Given the description of an element on the screen output the (x, y) to click on. 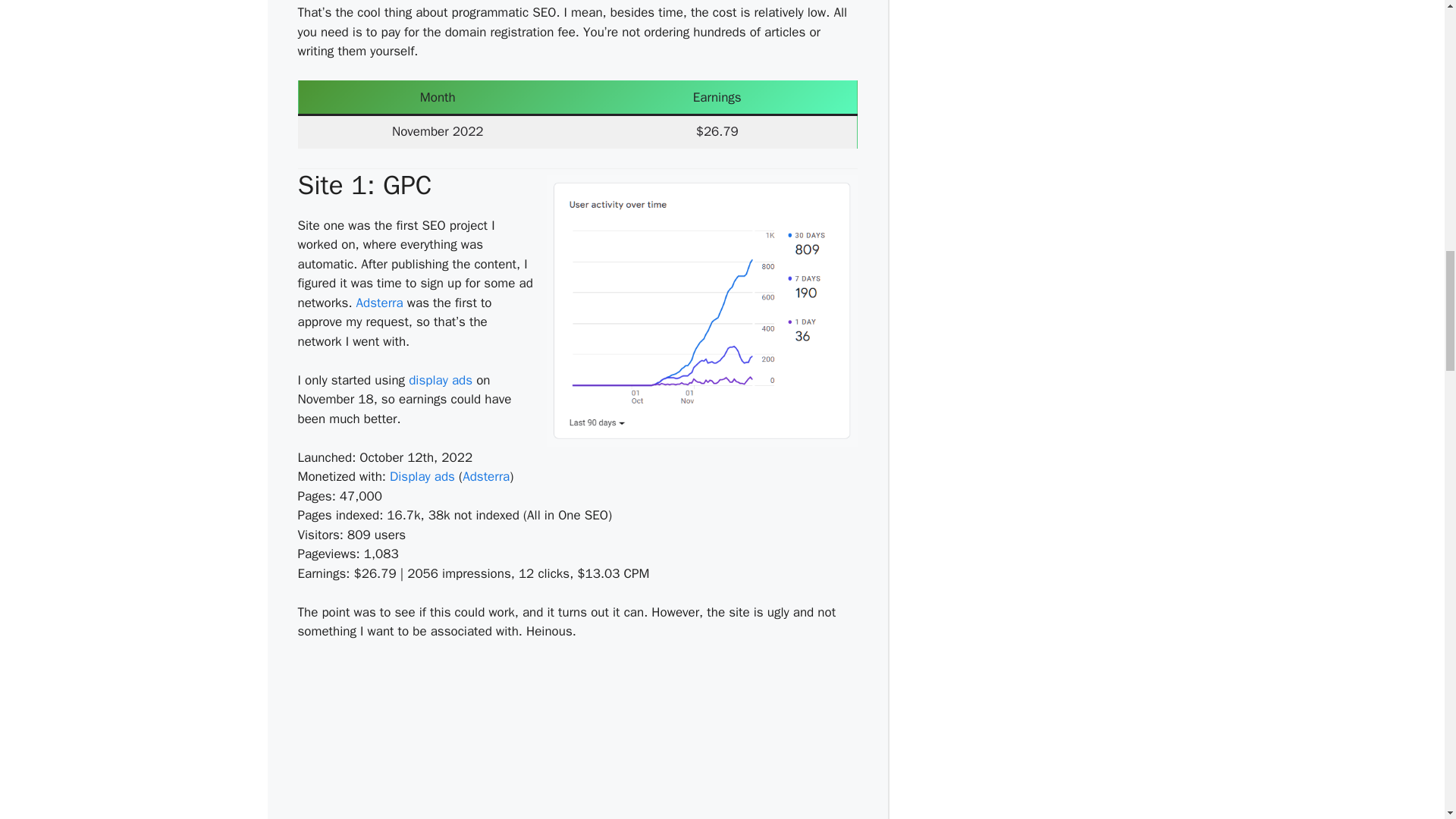
Adsterra (486, 476)
Adsterra (379, 302)
Adsterra (486, 476)
Adsterra (379, 302)
Adsterra (440, 380)
display ads (440, 380)
Adsterra (422, 476)
Display ads (422, 476)
